Given the description of an element on the screen output the (x, y) to click on. 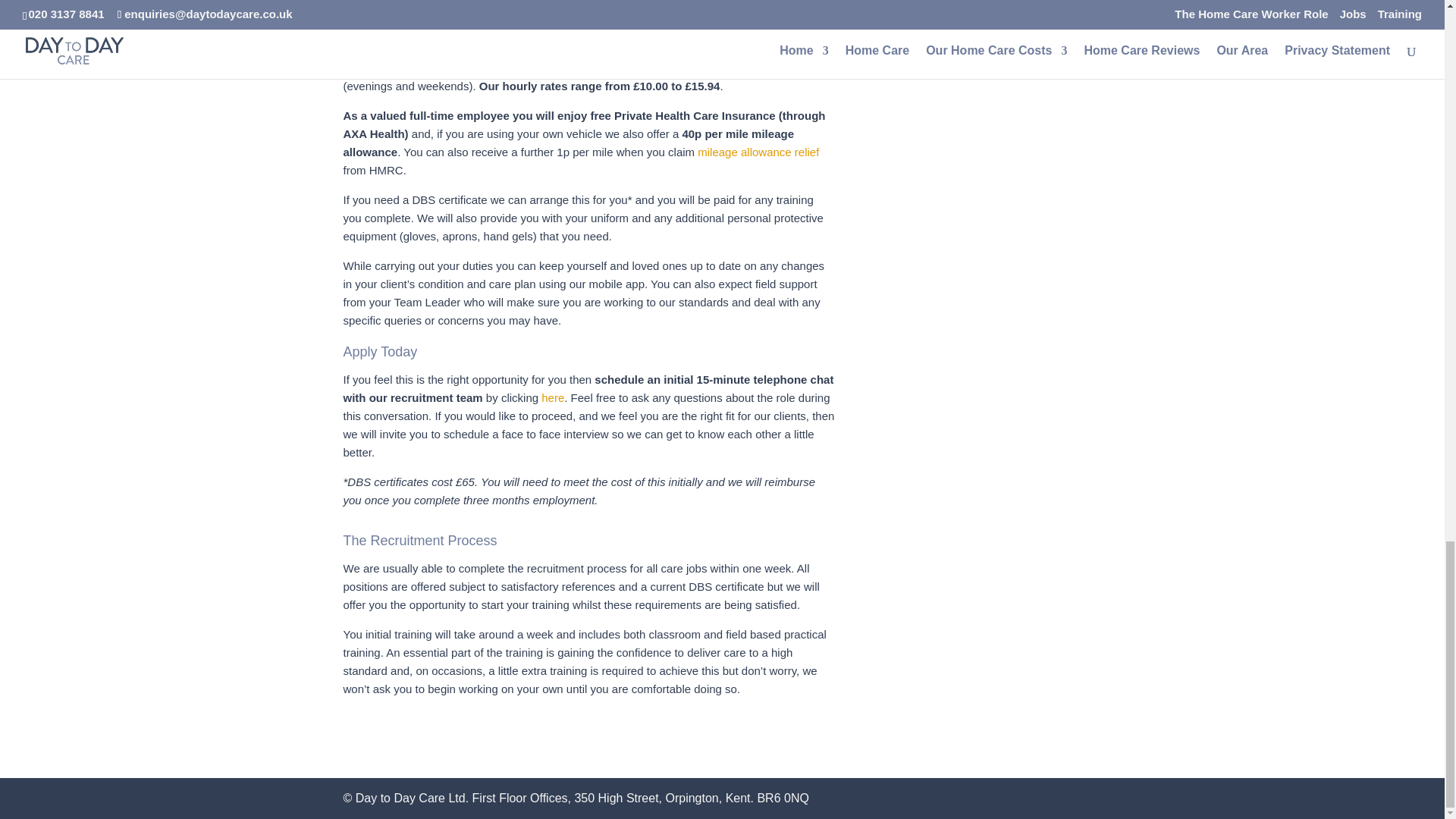
mileage allowance relief (757, 151)
here (552, 397)
